Given the description of an element on the screen output the (x, y) to click on. 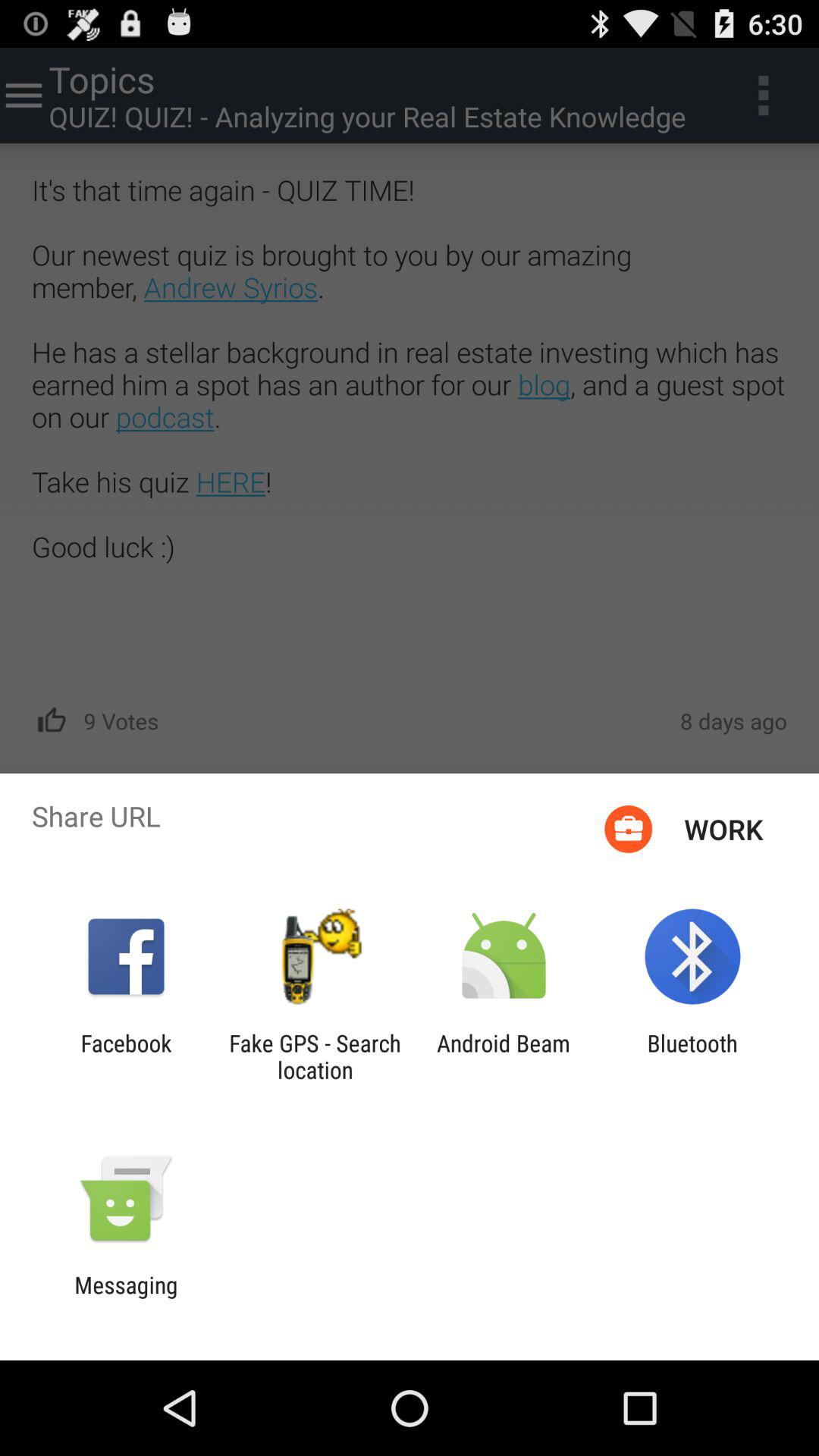
open the item at the bottom right corner (692, 1056)
